Given the description of an element on the screen output the (x, y) to click on. 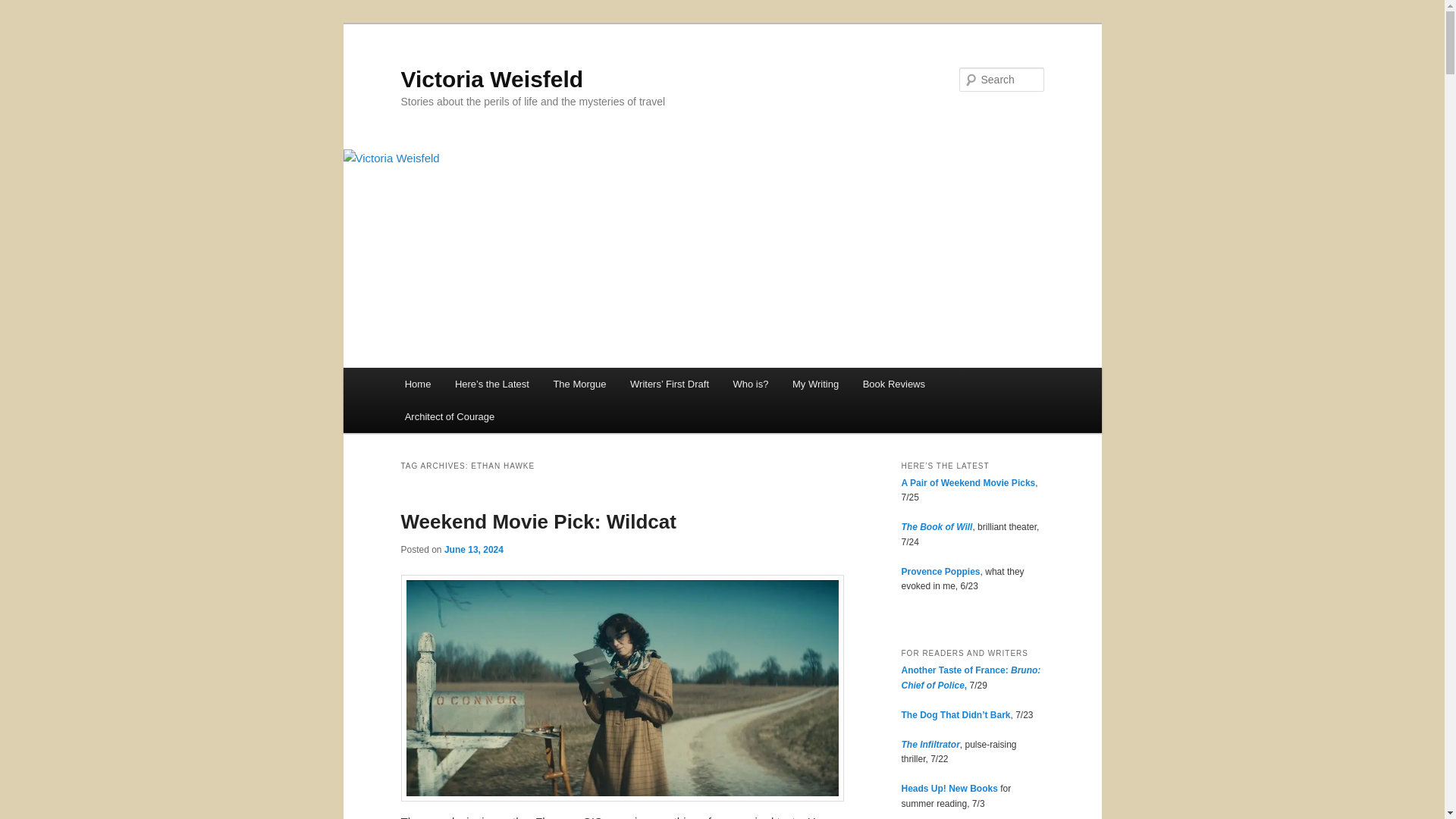
Book Reviews (893, 383)
Victoria Weisfeld (491, 78)
My Writing (815, 383)
Weekend Movie Pick: Wildcat (537, 521)
The Morgue (579, 383)
Home (417, 383)
Search (24, 8)
7:00 am (473, 549)
June 13, 2024 (473, 549)
Architect of Courage (449, 416)
Who is? (750, 383)
